Given the description of an element on the screen output the (x, y) to click on. 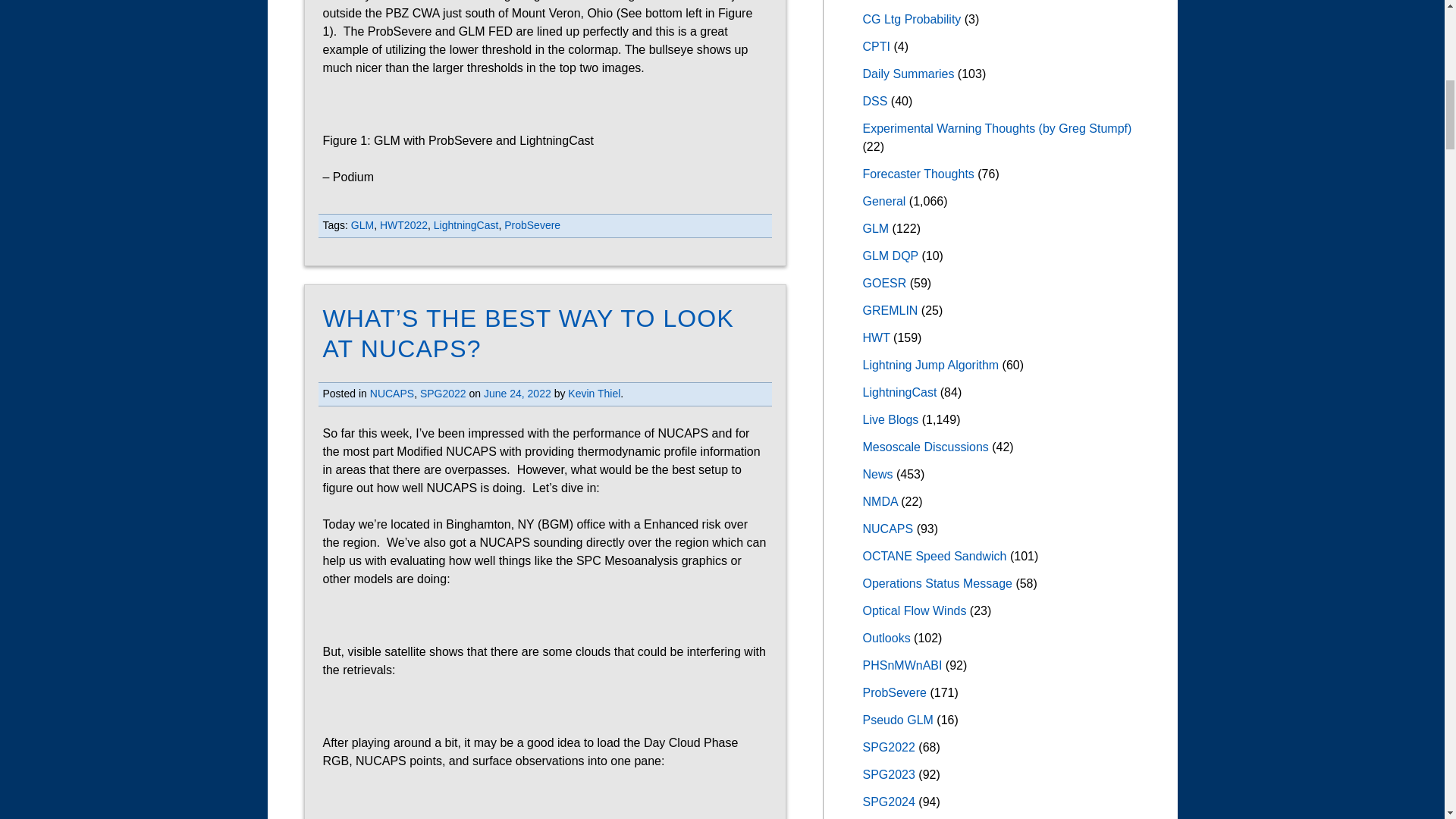
ProbSevere (531, 224)
HWT2022 (404, 224)
GLM (362, 224)
SPG2022 (442, 393)
June 24, 2022 (517, 393)
Kevin Thiel (593, 393)
LightningCast (466, 224)
NUCAPS (391, 393)
